Given the description of an element on the screen output the (x, y) to click on. 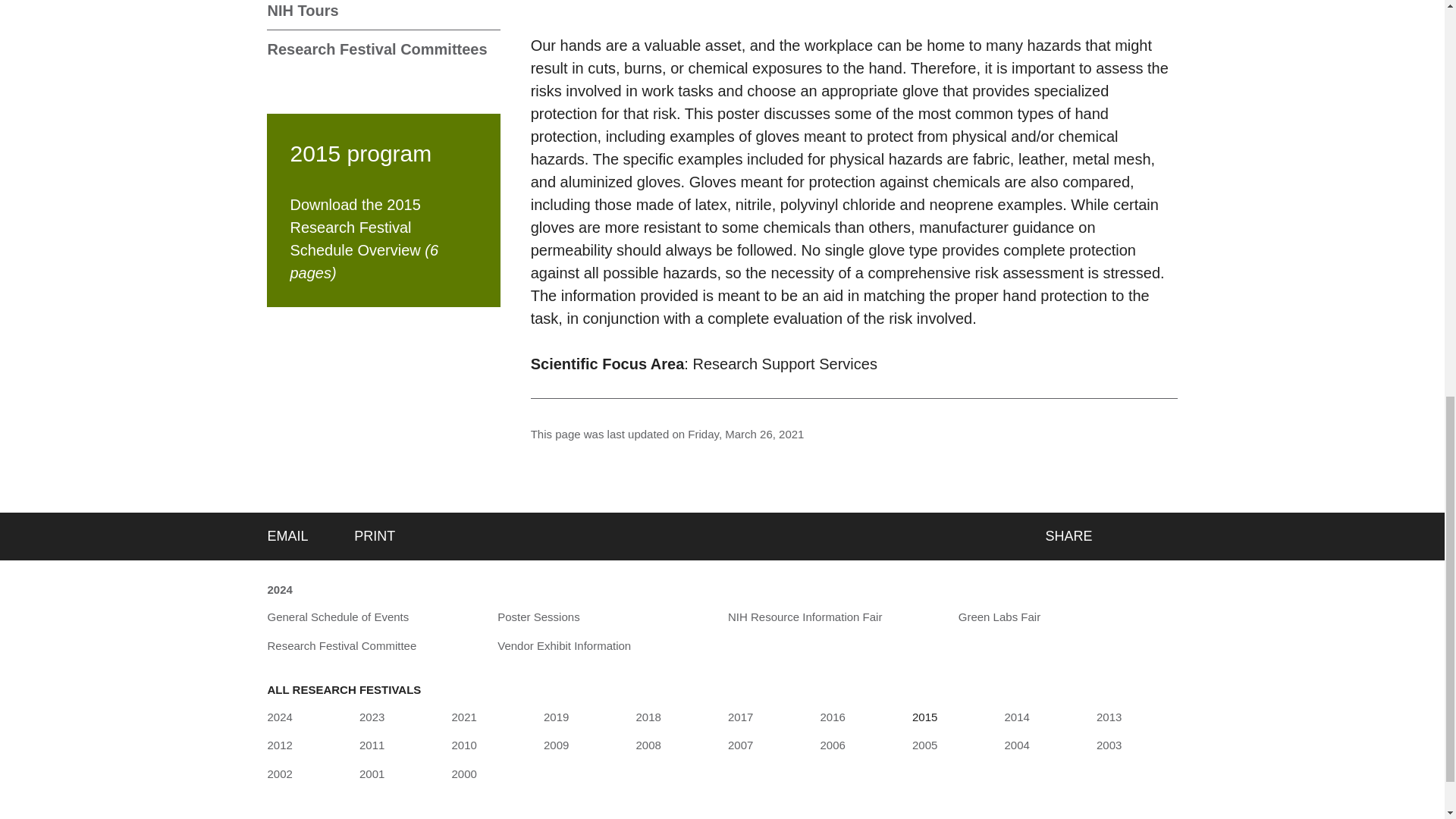
2024 NIH Research Festival (279, 590)
2024 NIH Research Festival (279, 717)
